Given the description of an element on the screen output the (x, y) to click on. 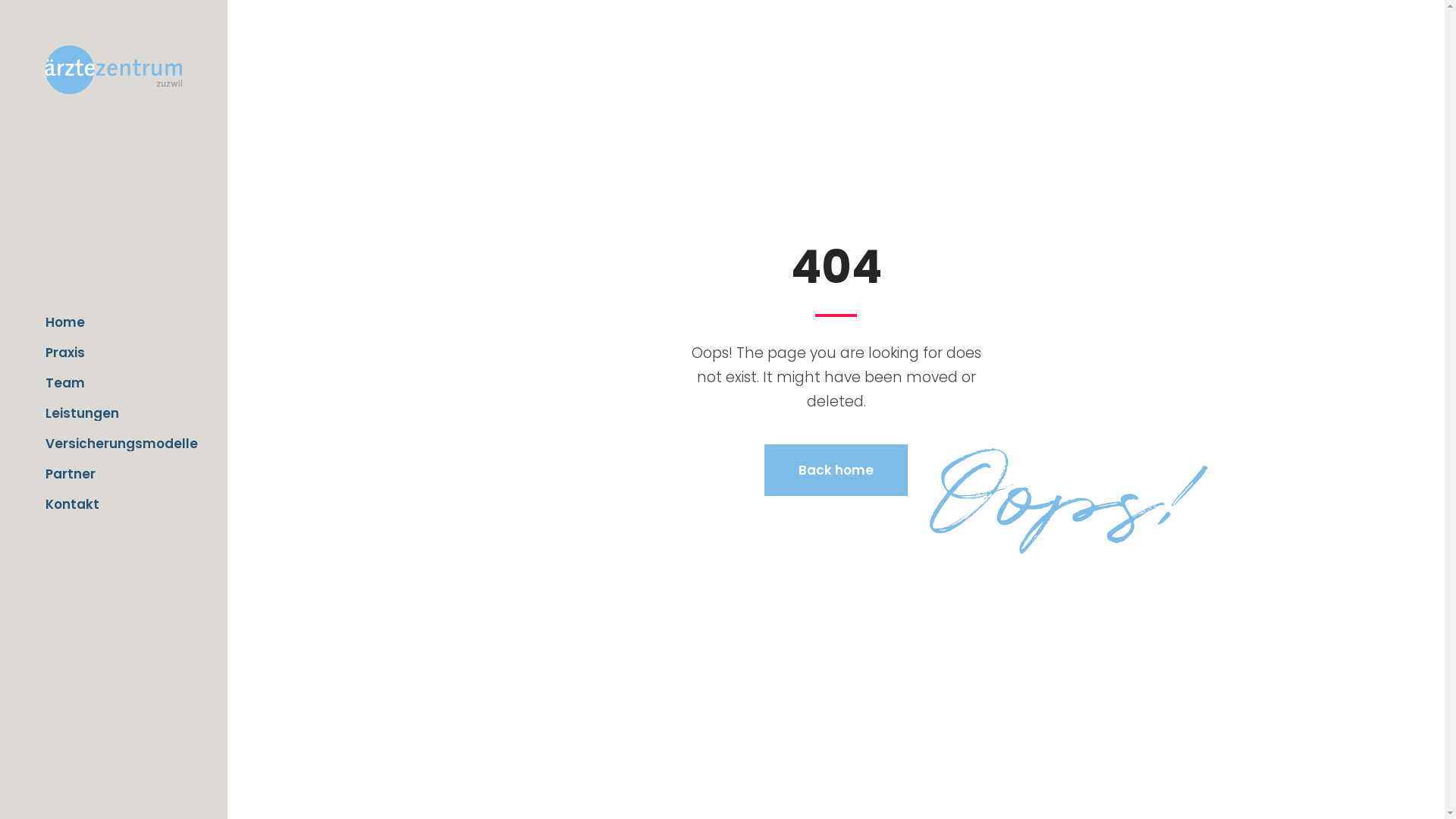
Leistungen Element type: text (121, 413)
Versicherungsmodelle Element type: text (121, 443)
Praxis Element type: text (121, 352)
Back home Element type: text (835, 469)
Partner Element type: text (121, 473)
Kontakt Element type: text (121, 504)
Team Element type: text (121, 382)
Home Element type: text (121, 322)
